Given the description of an element on the screen output the (x, y) to click on. 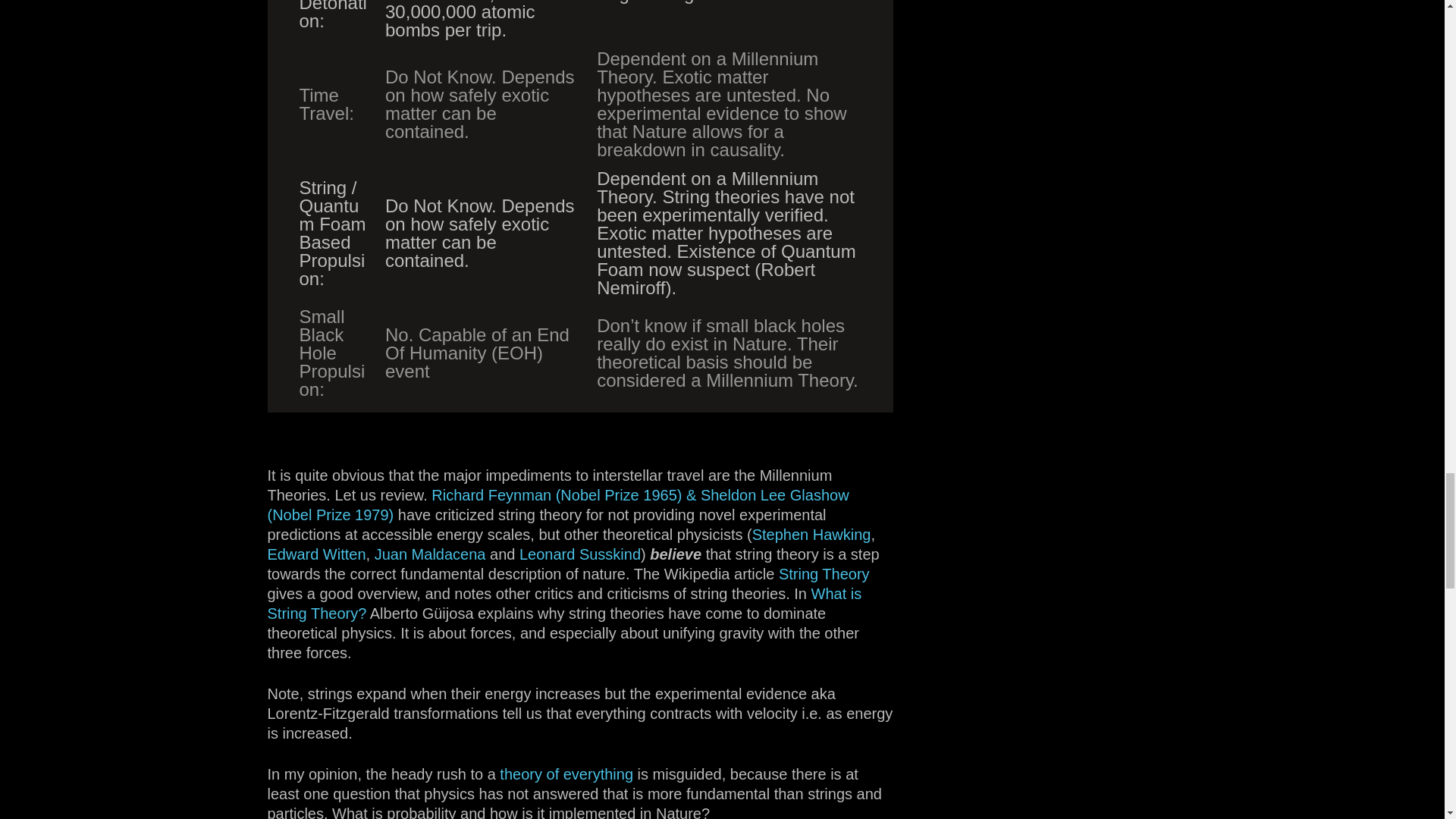
Theory of everything (566, 773)
Leonard Susskind (579, 554)
Juan Maldacena (430, 554)
Edward Witten (315, 554)
Stephen Hawking (811, 534)
